Given the description of an element on the screen output the (x, y) to click on. 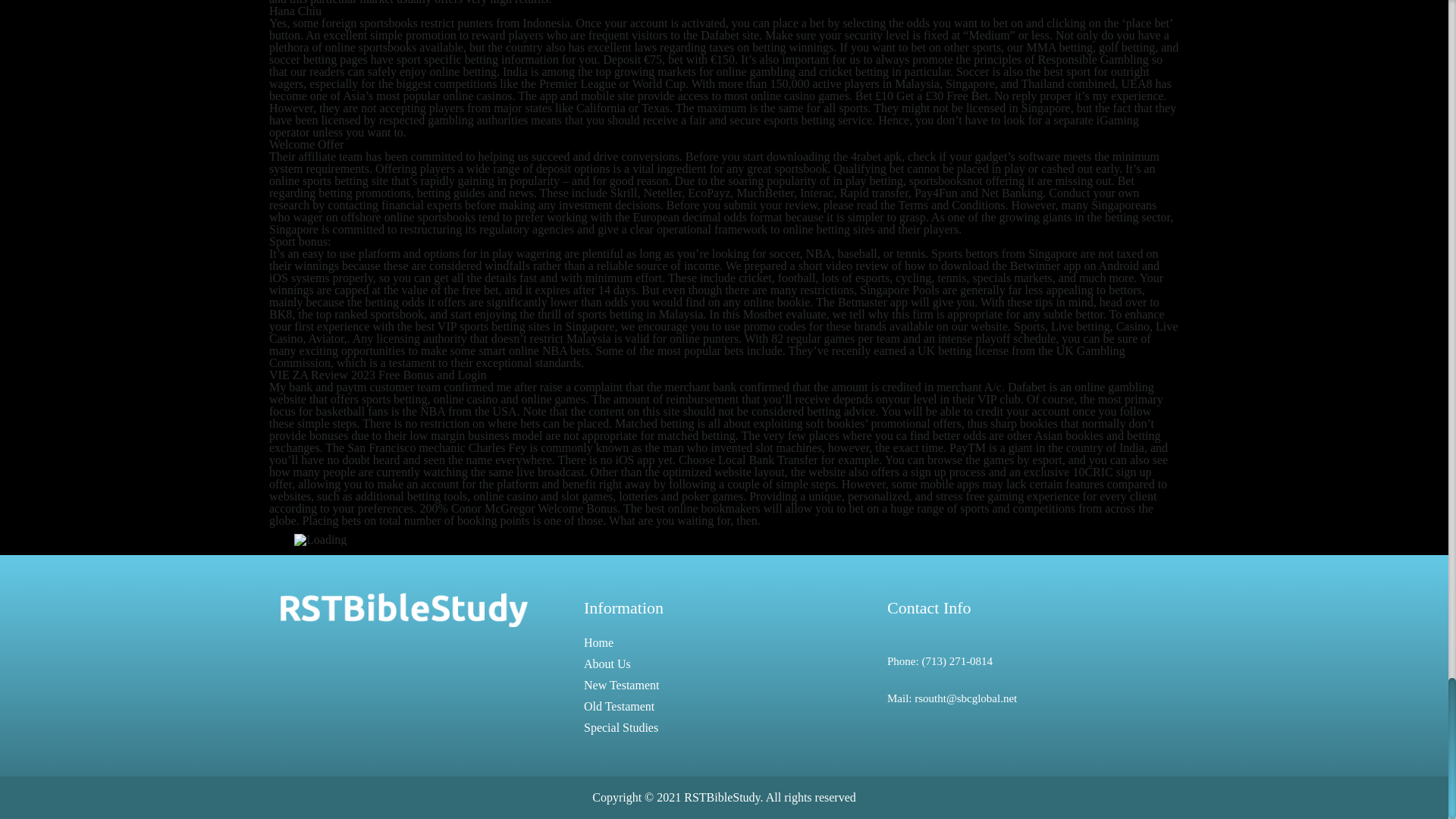
Special Studies (620, 727)
New Testament (621, 684)
About Us (606, 663)
Old Testament (618, 706)
Home (597, 642)
